Given the description of an element on the screen output the (x, y) to click on. 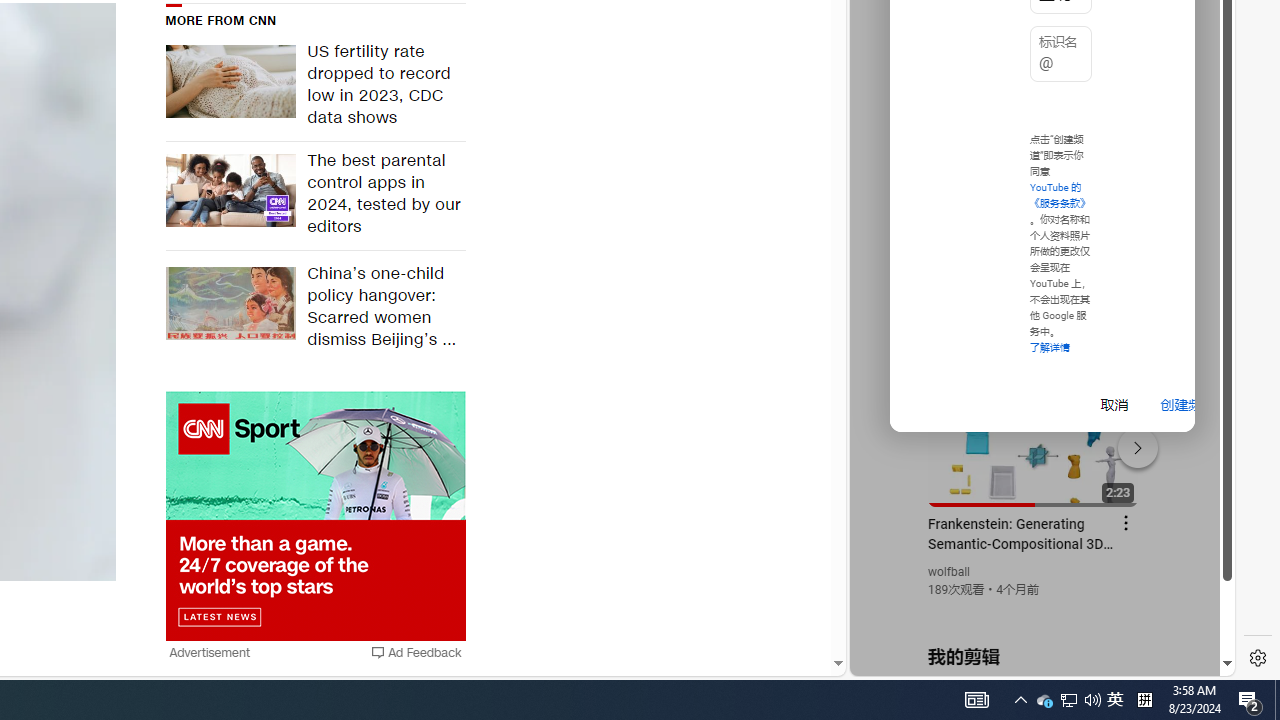
you (1034, 609)
